Given the description of an element on the screen output the (x, y) to click on. 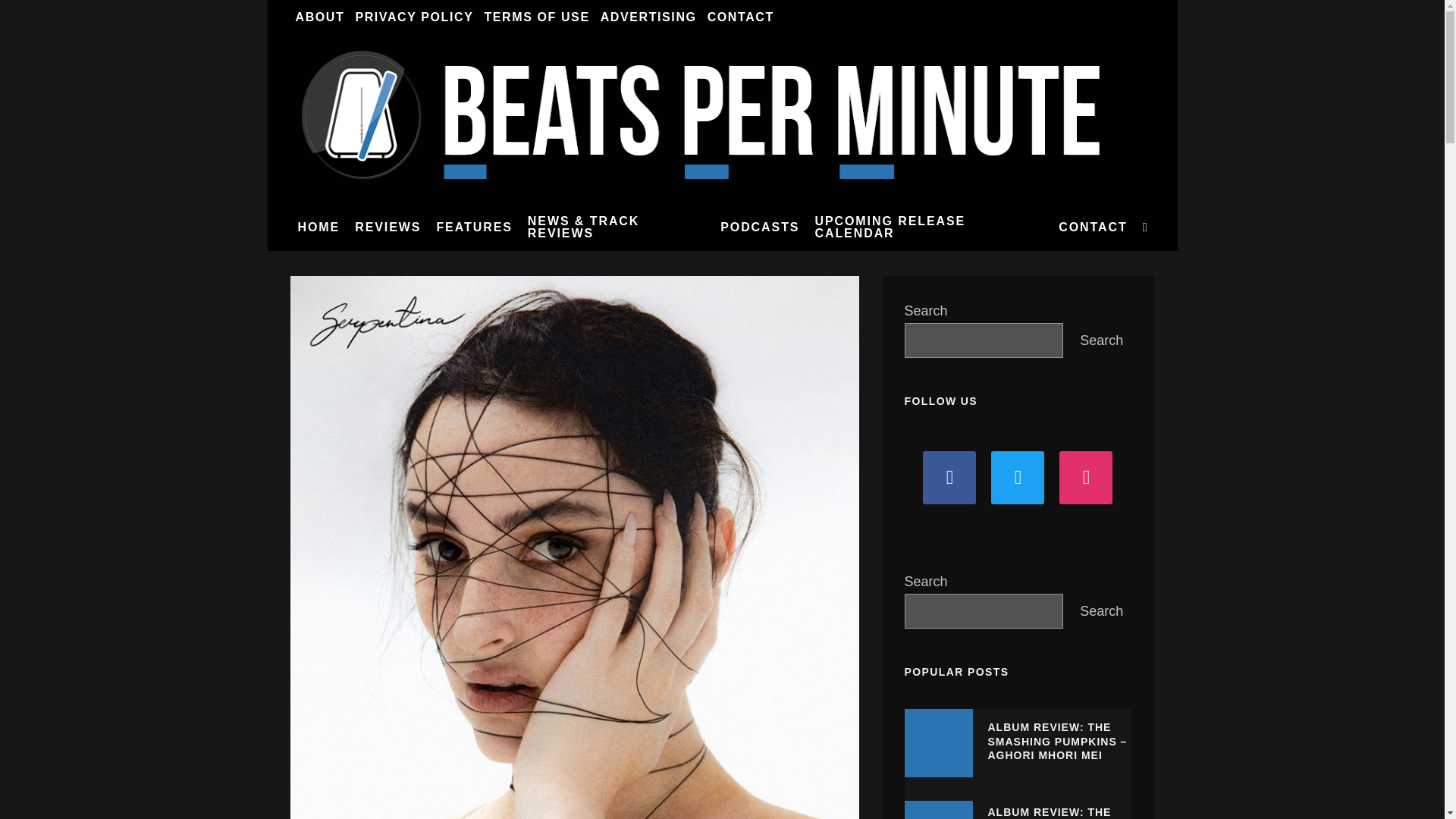
REVIEWS (387, 226)
CONTACT (739, 17)
PRIVACY POLICY (414, 17)
ABOUT (319, 17)
TERMS OF USE (536, 17)
HOME (318, 226)
FEATURES (473, 226)
ADVERTISING (648, 17)
